Given the description of an element on the screen output the (x, y) to click on. 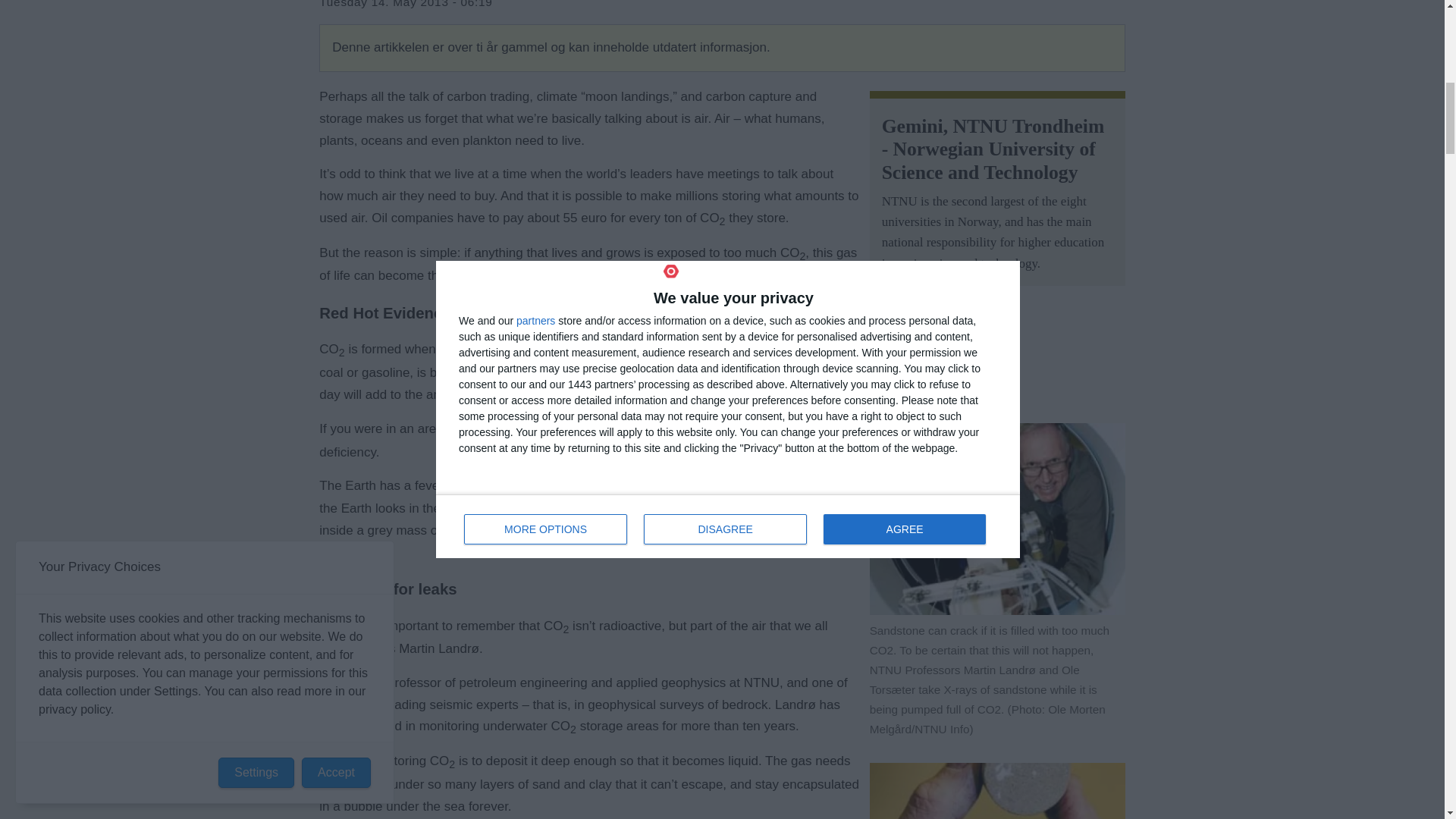
 tuesday 14. May 2013 - 06:19 (405, 7)
